Given the description of an element on the screen output the (x, y) to click on. 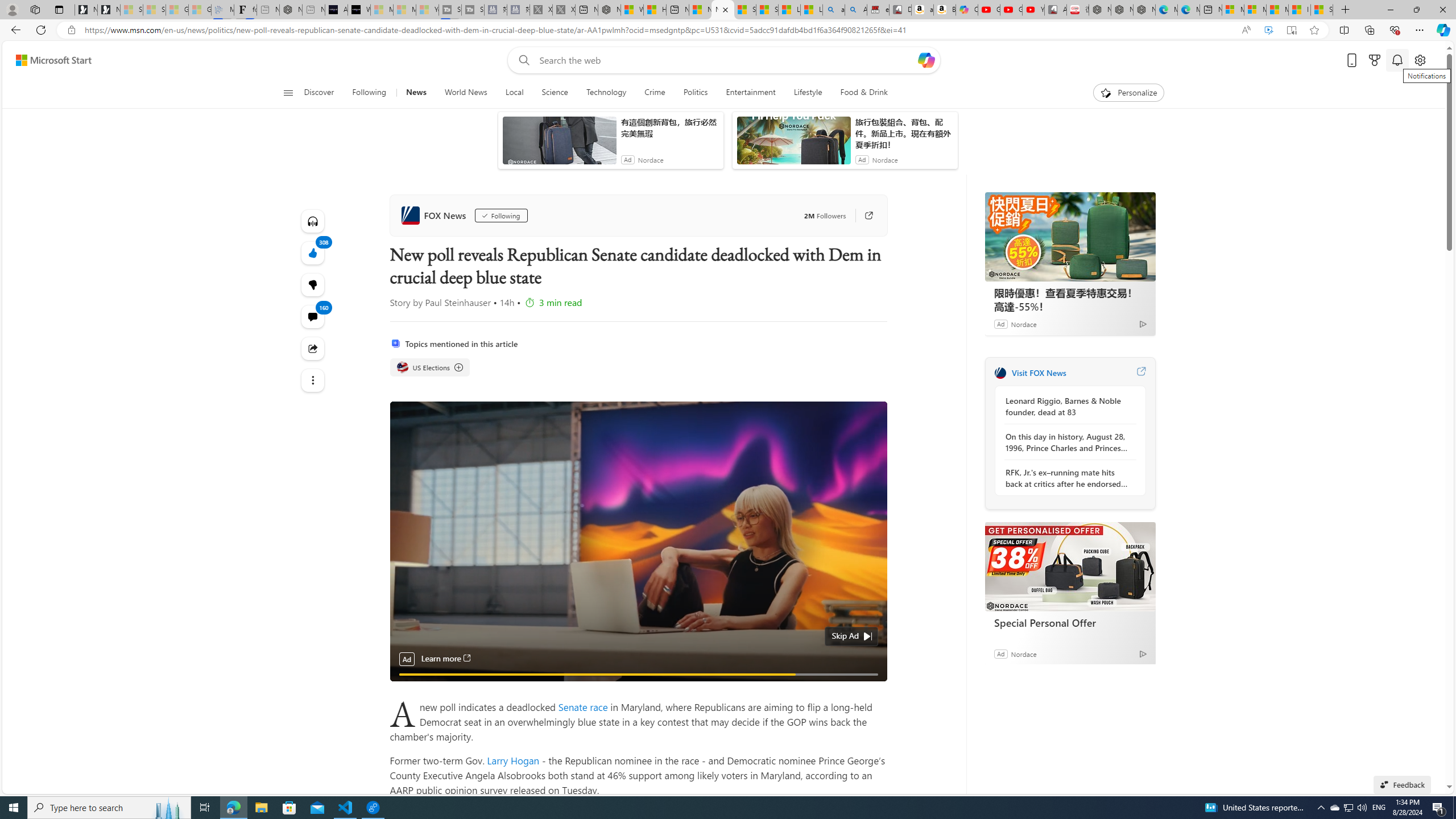
Politics (695, 92)
Nordace Comino Totepack (1099, 9)
Science (554, 92)
Ad (999, 653)
X - Sleeping (563, 9)
Local (514, 92)
Skip to content (49, 59)
Wildlife - MSN (631, 9)
Amazon Echo Dot PNG - Search Images (856, 9)
Learn more (446, 658)
Web search (520, 60)
I Gained 20 Pounds of Muscle in 30 Days! | Watch (1300, 9)
